Given the description of an element on the screen output the (x, y) to click on. 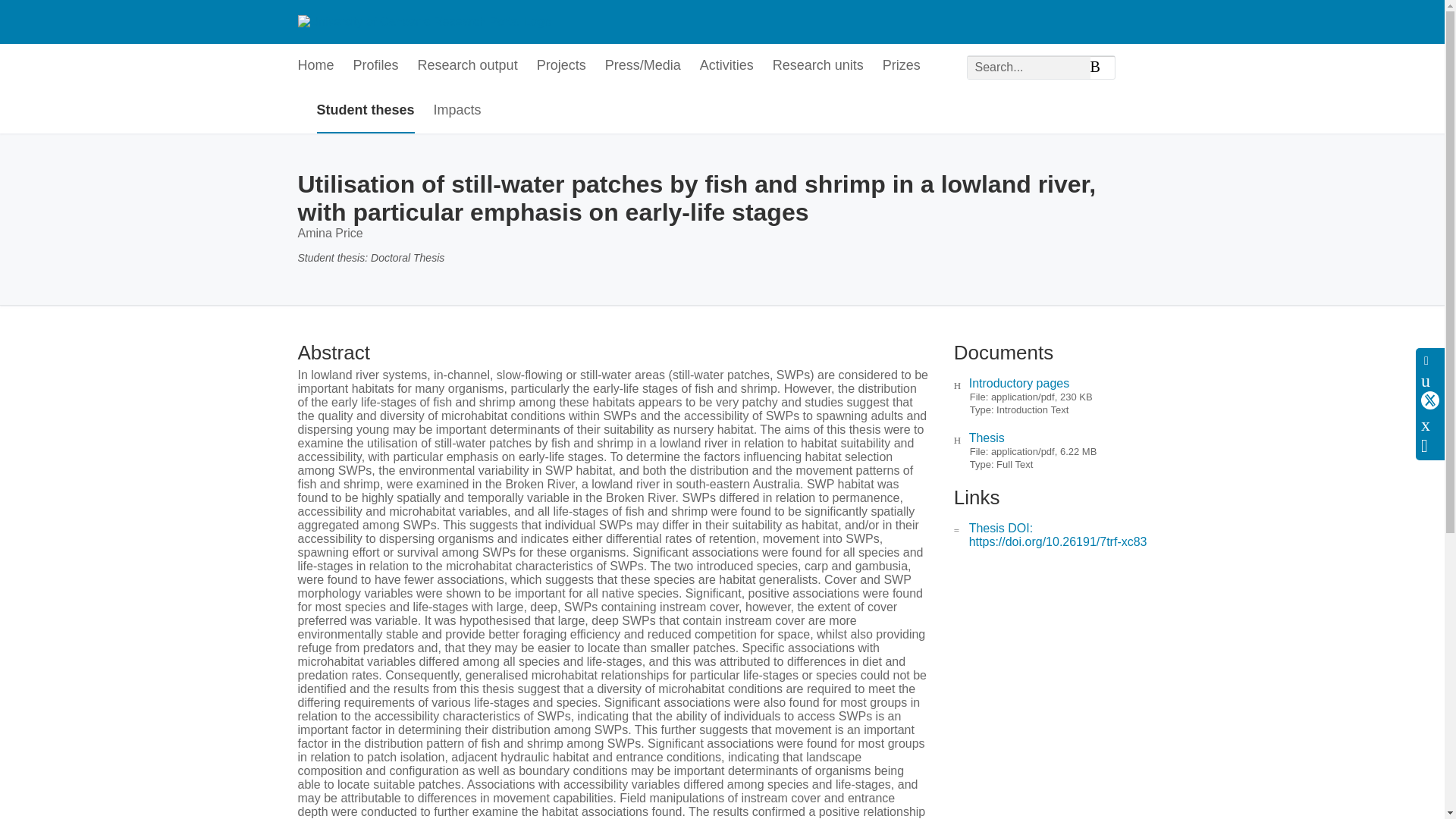
Introductory pages (1019, 382)
Impacts (457, 110)
Activities (727, 66)
University of Canberra Research Portal Home (423, 21)
Student theses (365, 110)
Research units (818, 66)
Research output (467, 66)
Projects (561, 66)
Thesis (986, 437)
Profiles (375, 66)
